Given the description of an element on the screen output the (x, y) to click on. 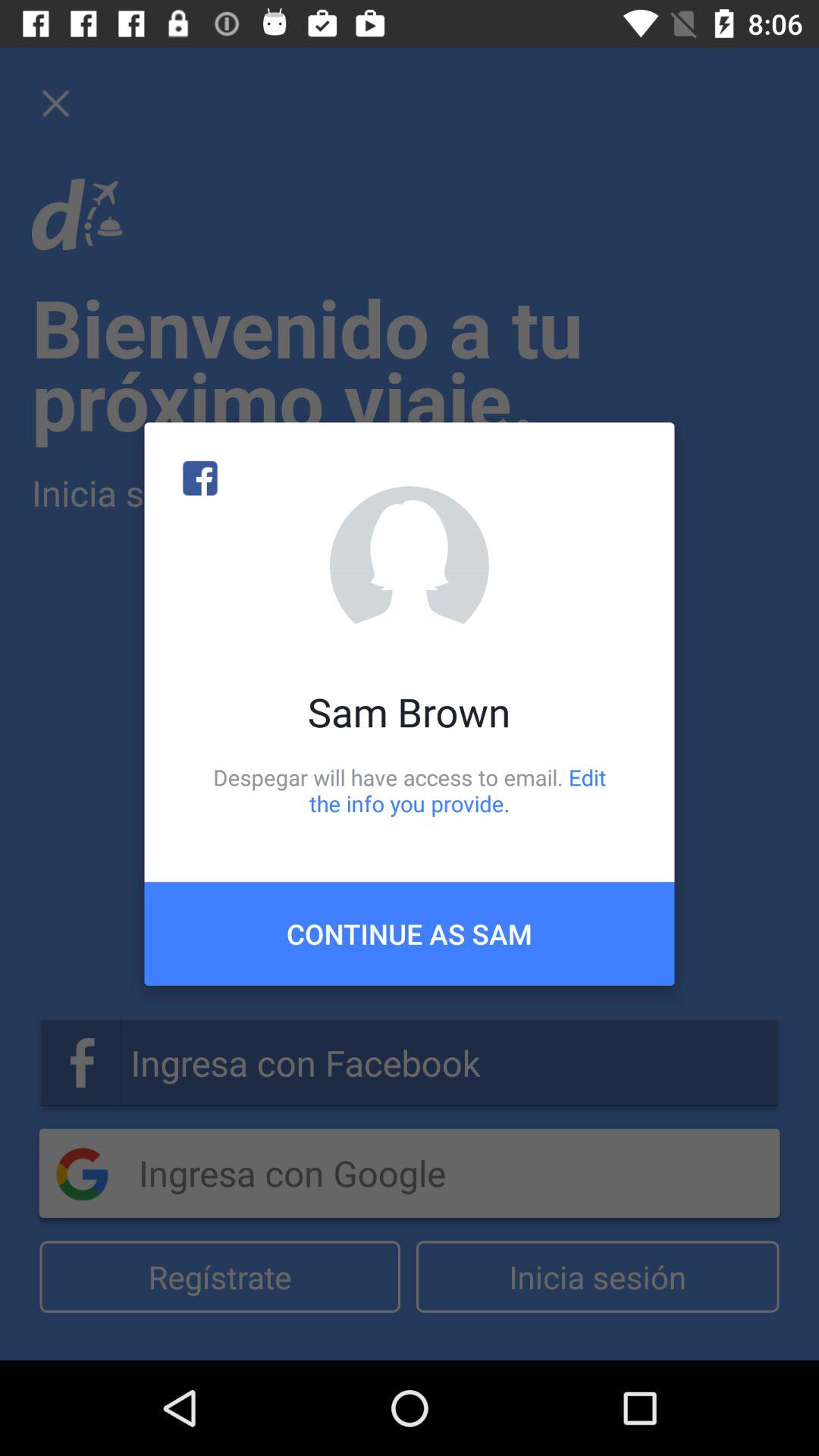
tap continue as sam icon (409, 933)
